Given the description of an element on the screen output the (x, y) to click on. 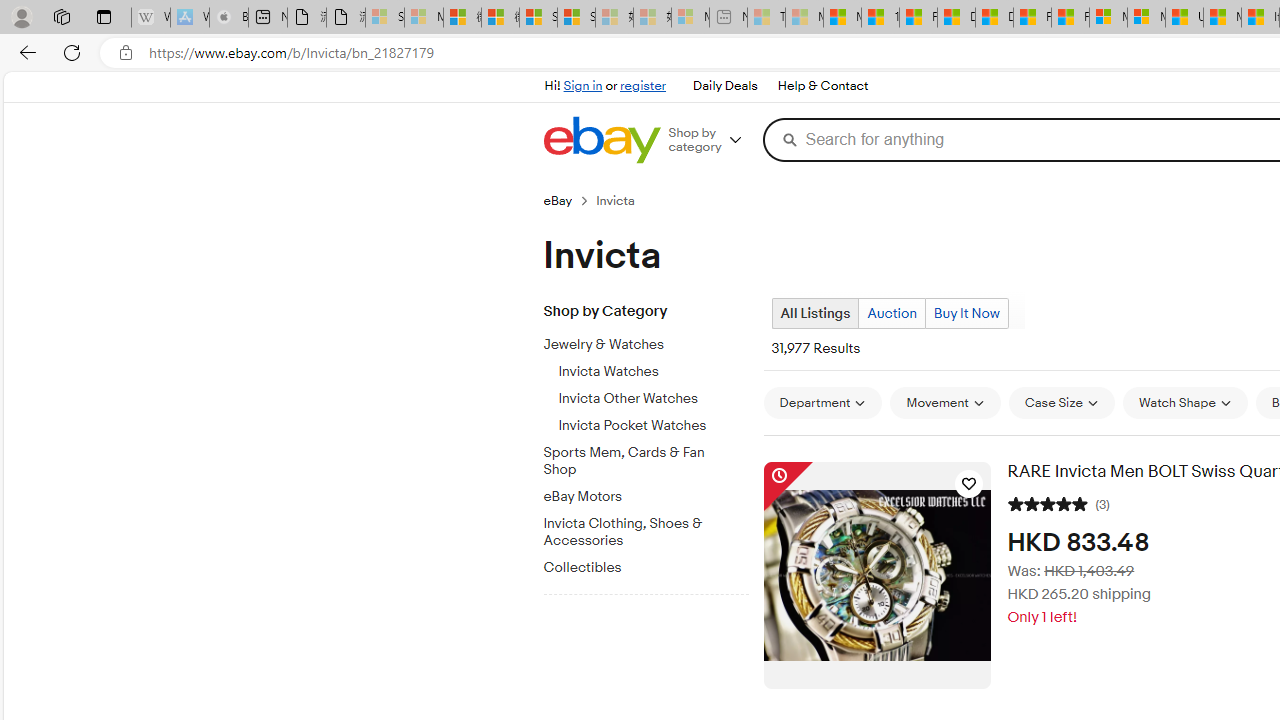
Collectibles (653, 564)
Invicta Clothing, Shoes & Accessories (637, 532)
Top Stories - MSN - Sleeping (765, 17)
Case Size (1061, 402)
Department (822, 402)
Marine life - MSN - Sleeping (804, 17)
Help & Contact (822, 86)
Invicta Watches (653, 372)
Watch Shape (1185, 402)
